Given the description of an element on the screen output the (x, y) to click on. 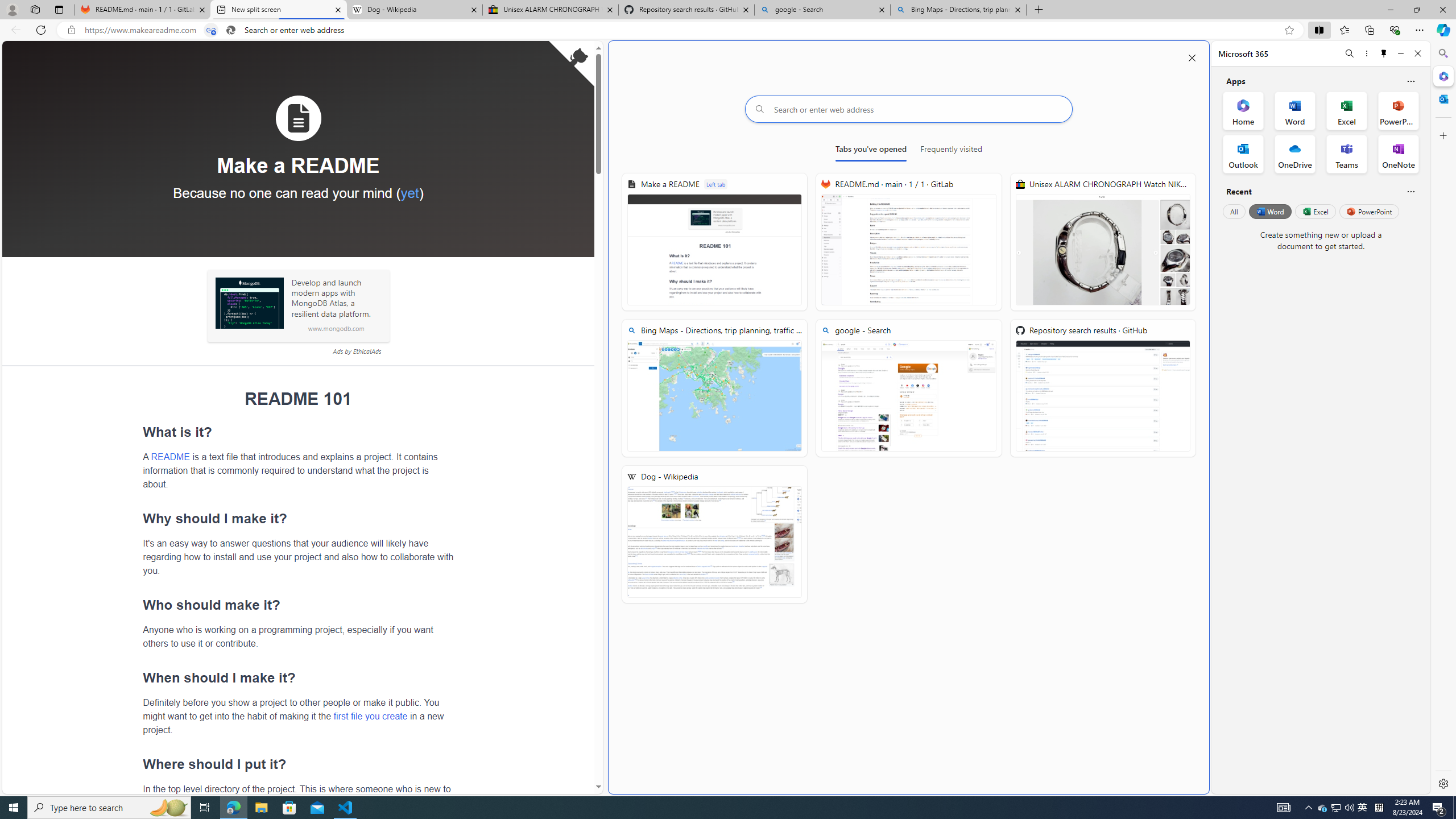
Dog - Wikipedia (414, 9)
Dog - Wikipedia (714, 534)
Search icon (230, 29)
Unpin side pane (1383, 53)
Search or enter web address (909, 108)
New split screen (277, 9)
